Given the description of an element on the screen output the (x, y) to click on. 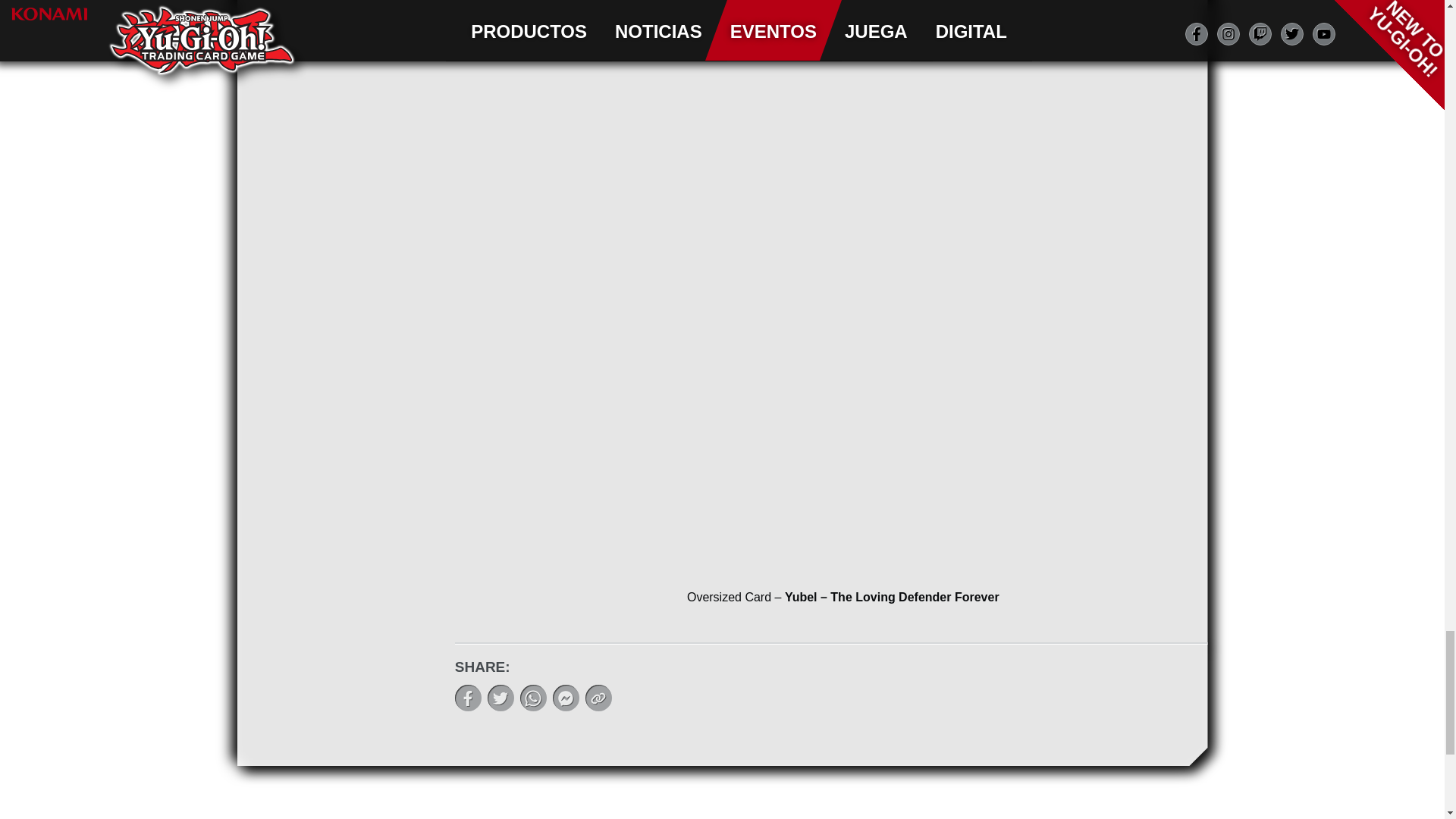
Copy link (598, 697)
Share on WhatsApp (533, 697)
Share on Twitter (500, 697)
Share on Facebook (467, 697)
Share on Facebook Messenger (566, 697)
